Given the description of an element on the screen output the (x, y) to click on. 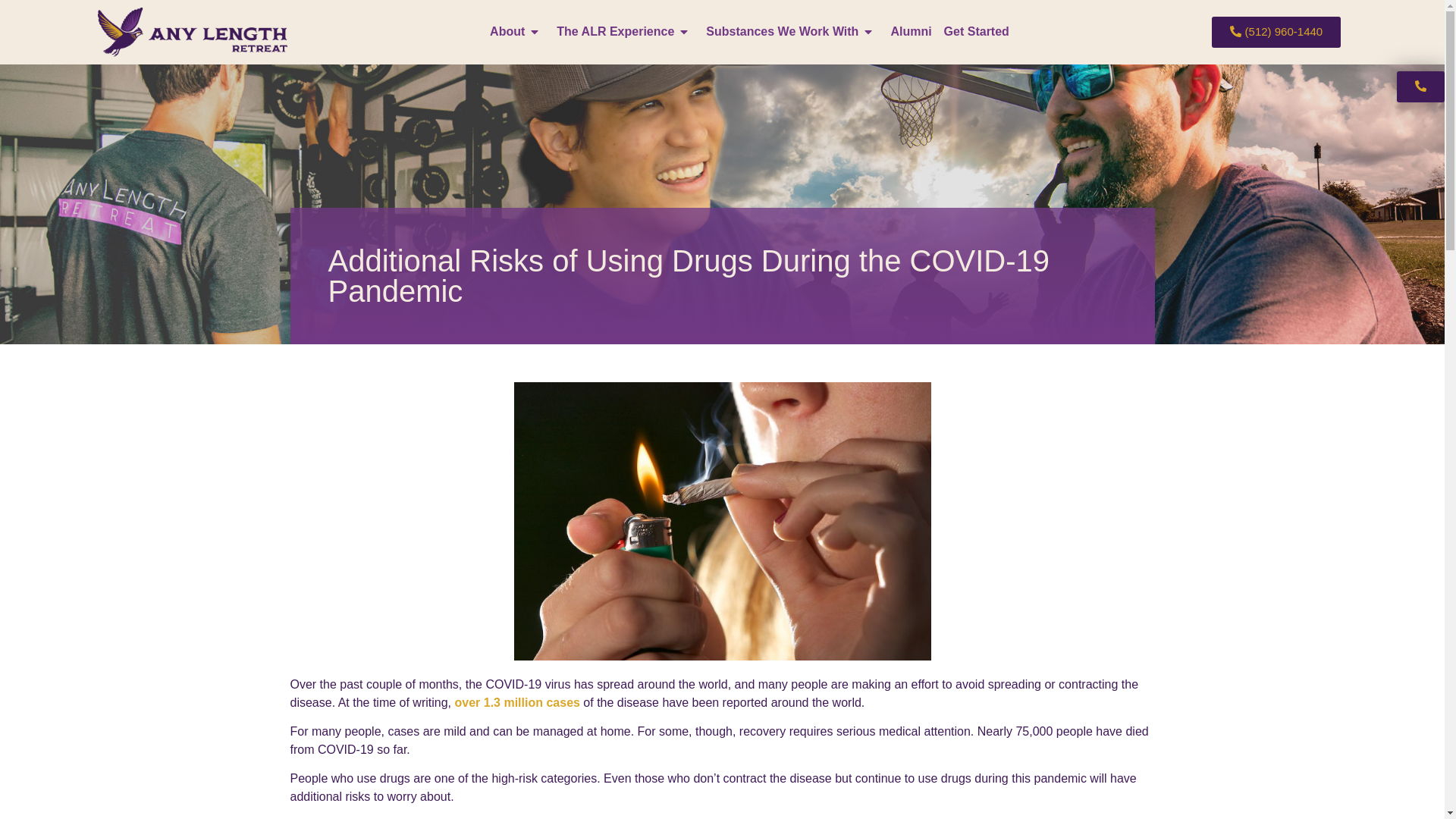
The ALR Experience (625, 31)
Substances We Work With (791, 31)
About (516, 31)
Get Started (975, 31)
Alumni (910, 31)
